Given the description of an element on the screen output the (x, y) to click on. 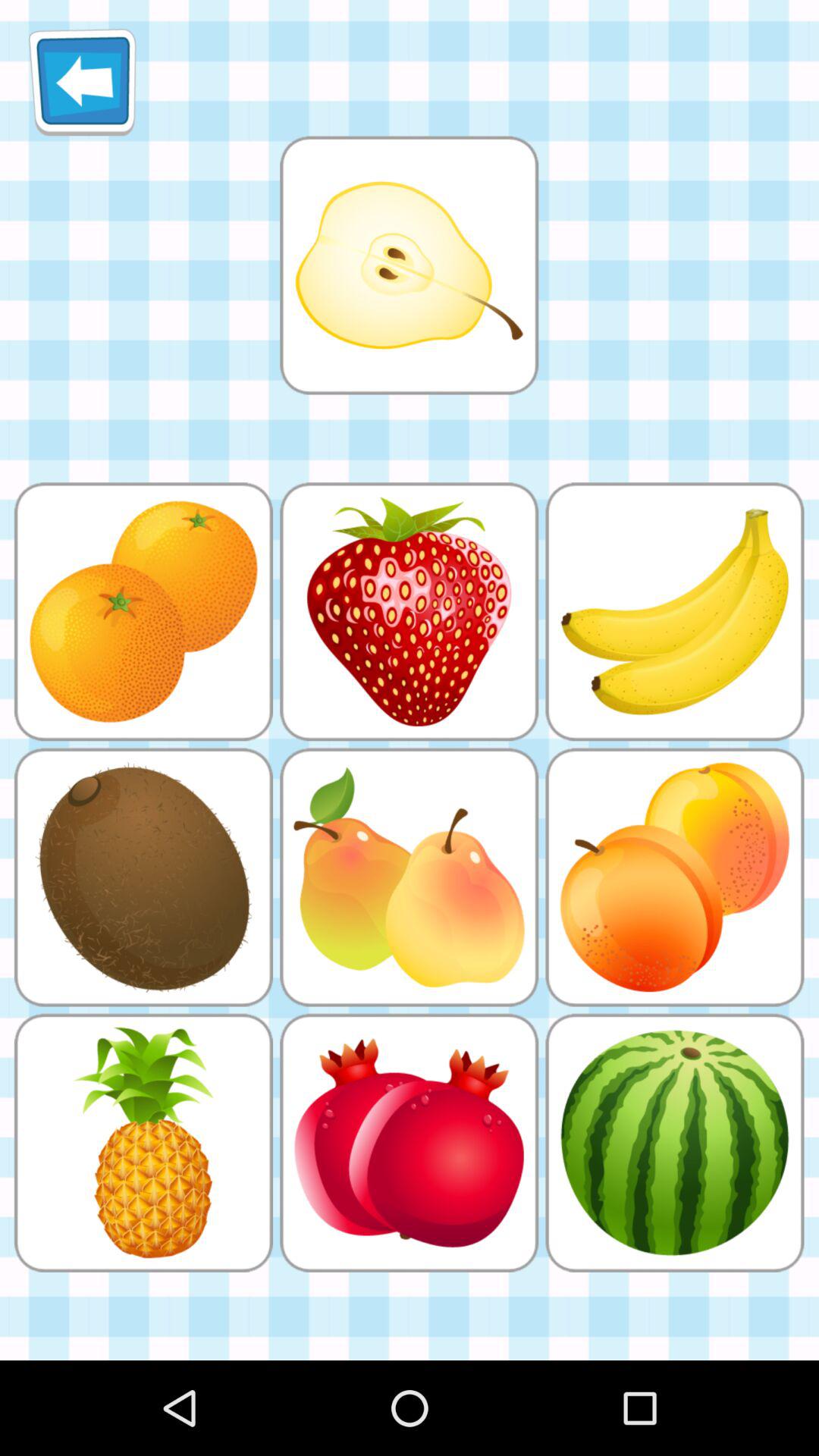
games option (409, 265)
